Given the description of an element on the screen output the (x, y) to click on. 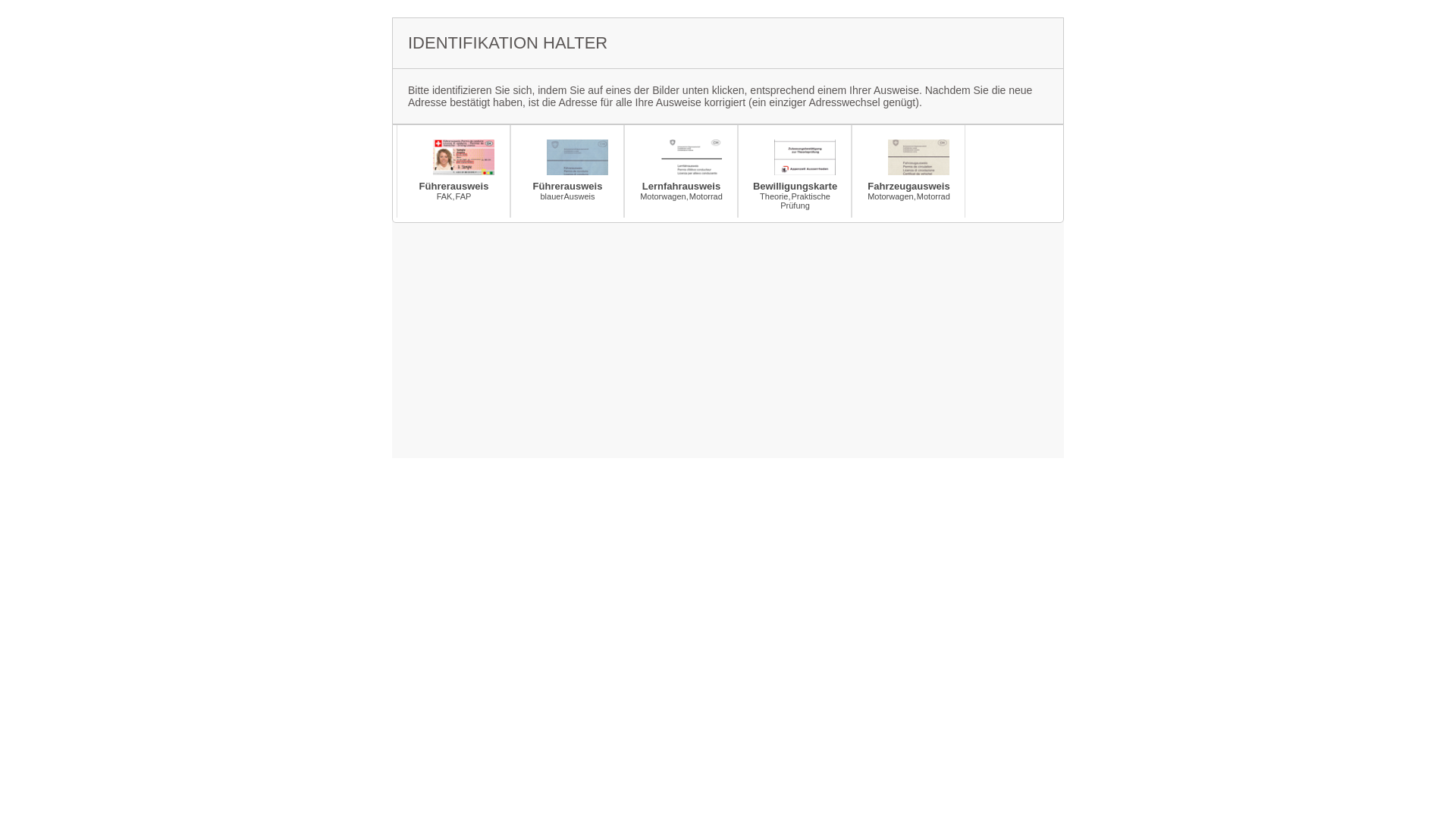
Fahrzeugausweis
Motorwagen, Motorrad Element type: text (908, 171)
Lernfahrausweis
Motorwagen, Motorrad Element type: text (681, 171)
